Given the description of an element on the screen output the (x, y) to click on. 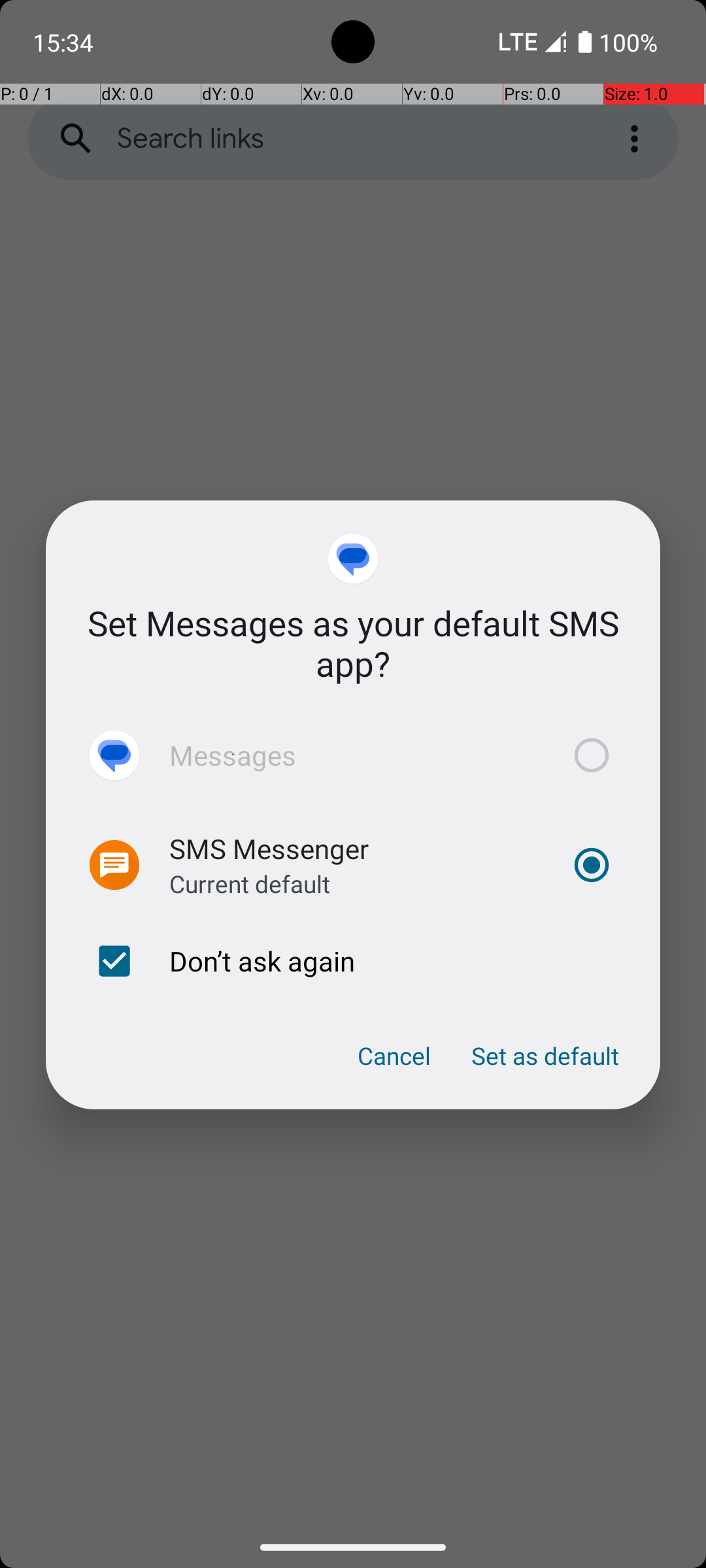
Set Messages as your default SMS app? Element type: android.widget.TextView (352, 642)
Don’t ask again Element type: android.widget.CheckBox (352, 960)
Set as default Element type: android.widget.Button (545, 1055)
Current default Element type: android.widget.TextView (249, 883)
